Given the description of an element on the screen output the (x, y) to click on. 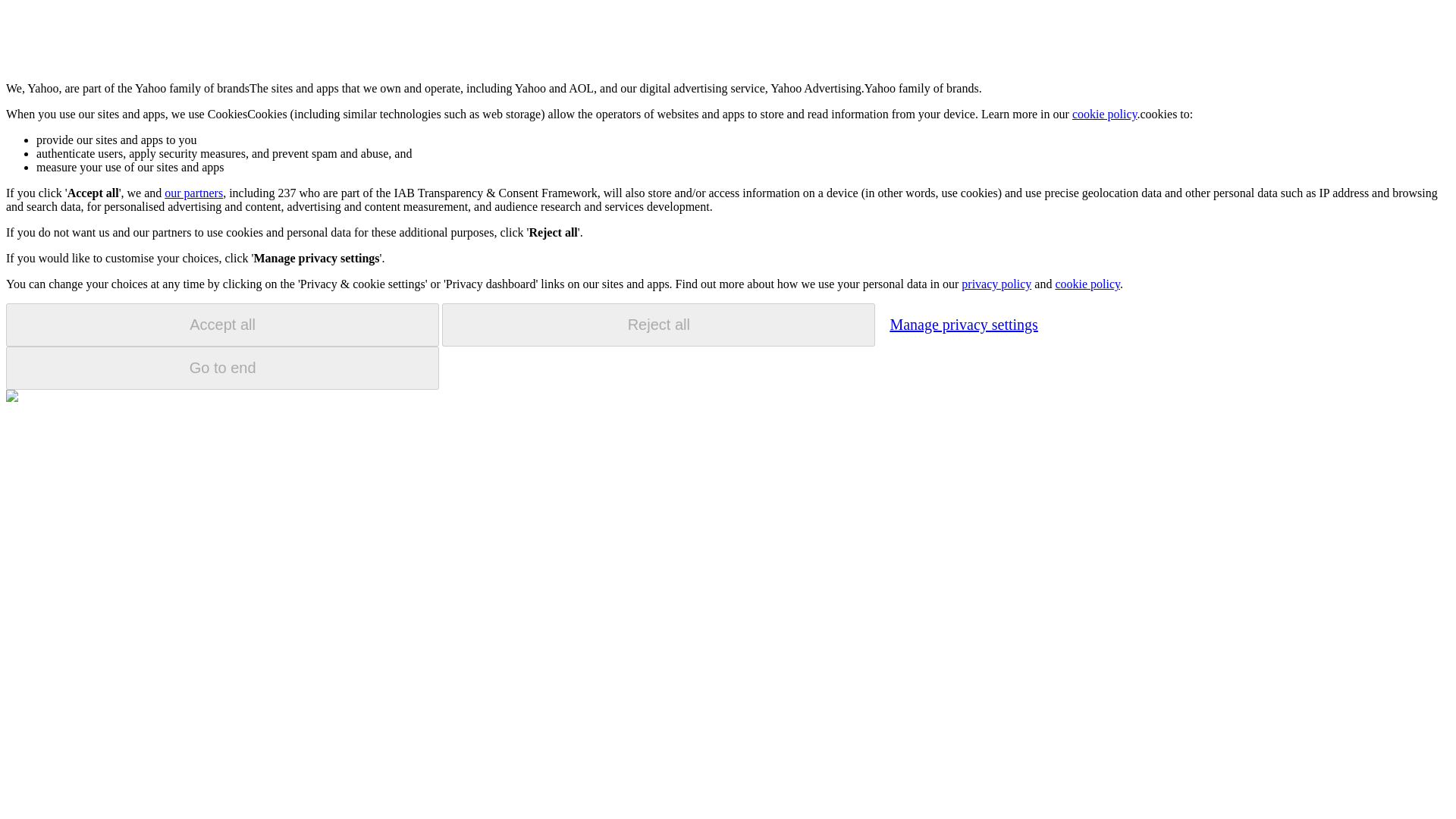
Reject all (658, 324)
Manage privacy settings (963, 323)
Accept all (222, 324)
privacy policy (995, 283)
Go to end (222, 367)
our partners (193, 192)
cookie policy (1104, 113)
cookie policy (1086, 283)
